Given the description of an element on the screen output the (x, y) to click on. 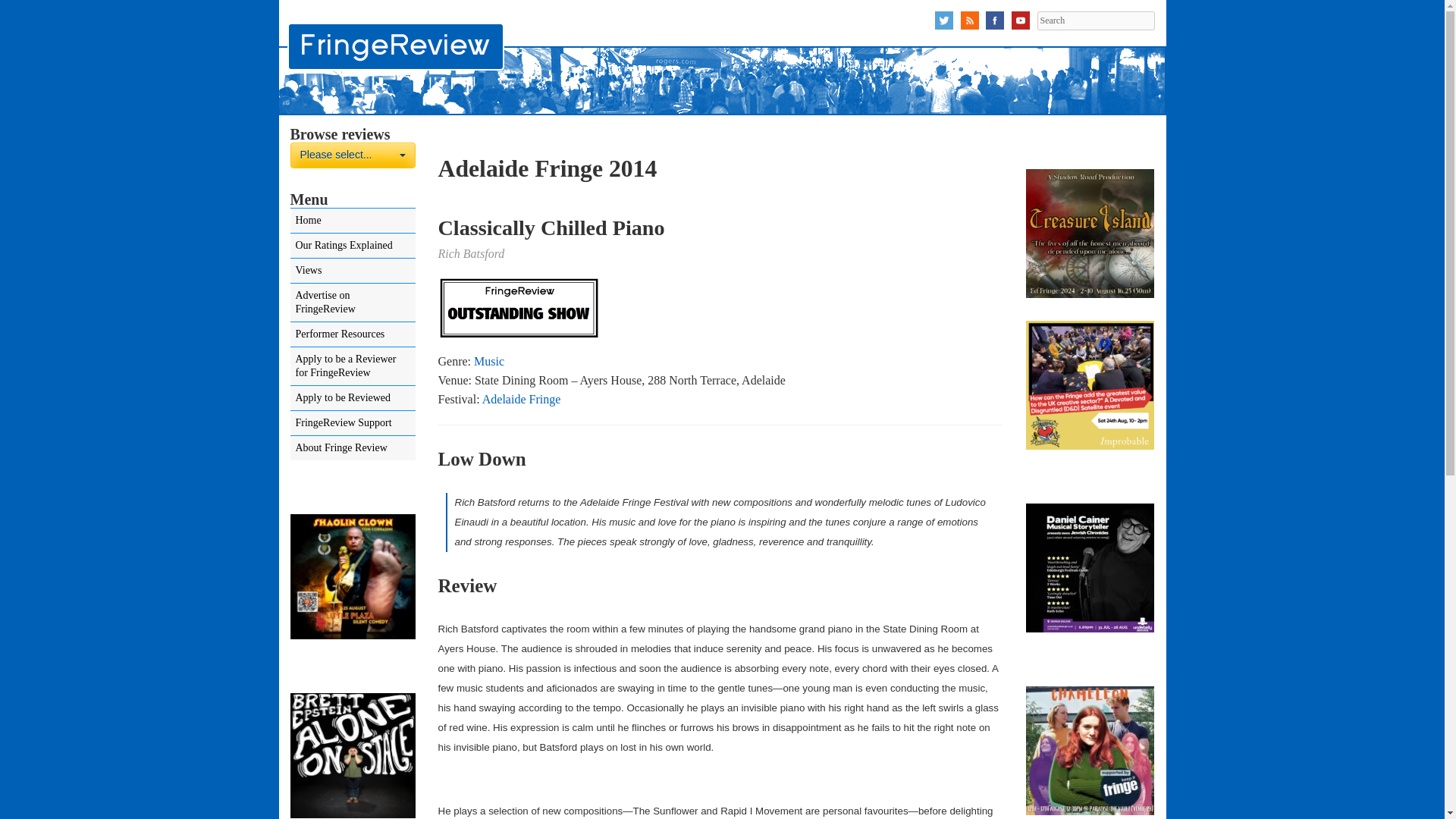
Please select... (351, 155)
Search (351, 155)
Search (1095, 20)
Search for: (1095, 20)
